Given the description of an element on the screen output the (x, y) to click on. 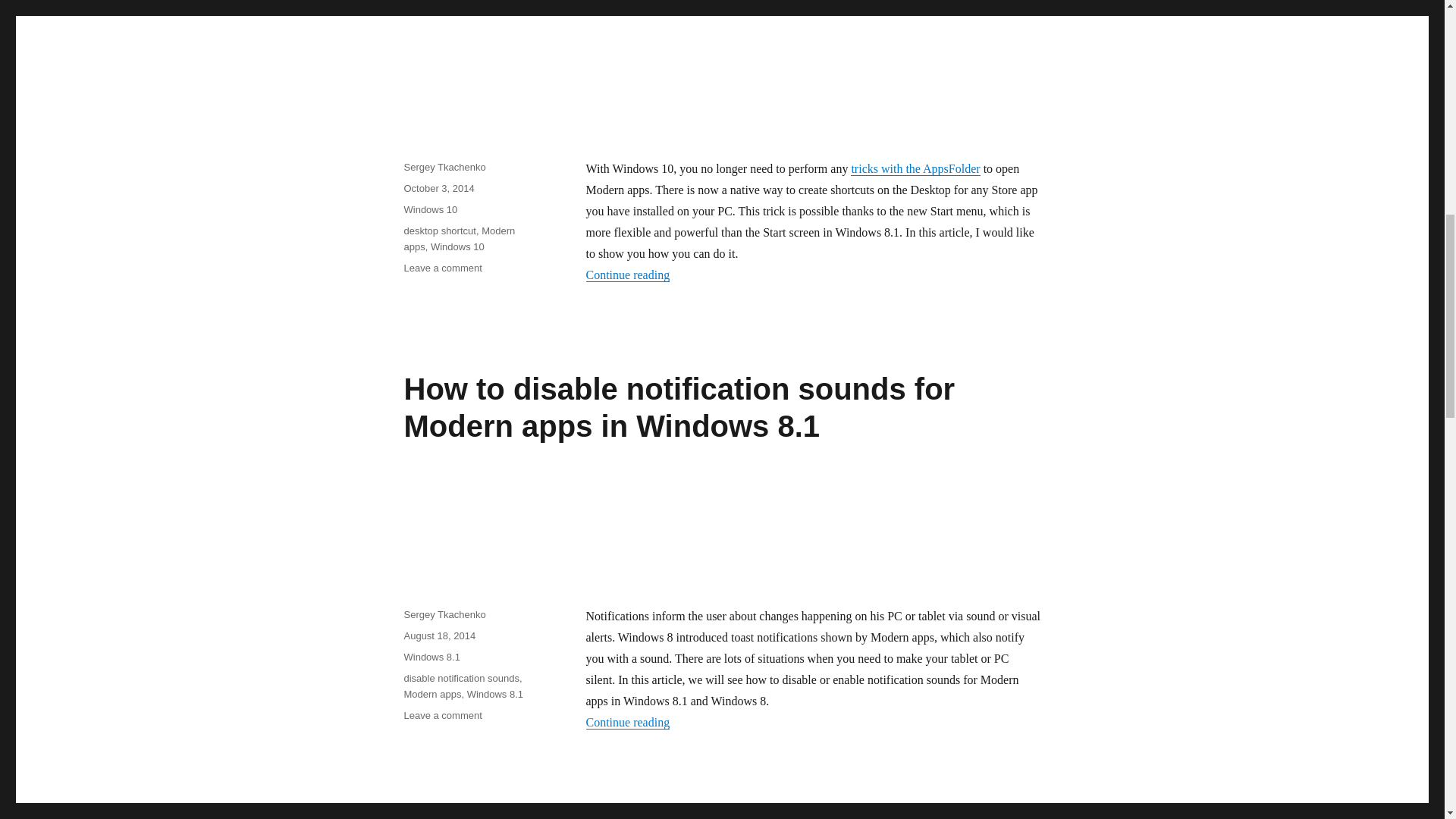
Modern apps (432, 694)
desktop shortcut (439, 230)
disable notification sounds (461, 677)
Windows 10 (457, 246)
Windows 10 (430, 209)
Modern apps (459, 238)
tricks with the AppsFolder (914, 168)
Sergey Tkachenko (443, 614)
October 3, 2014 (438, 188)
Windows 8.1 (431, 656)
Windows 8.1 (494, 694)
August 18, 2014 (439, 635)
